Given the description of an element on the screen output the (x, y) to click on. 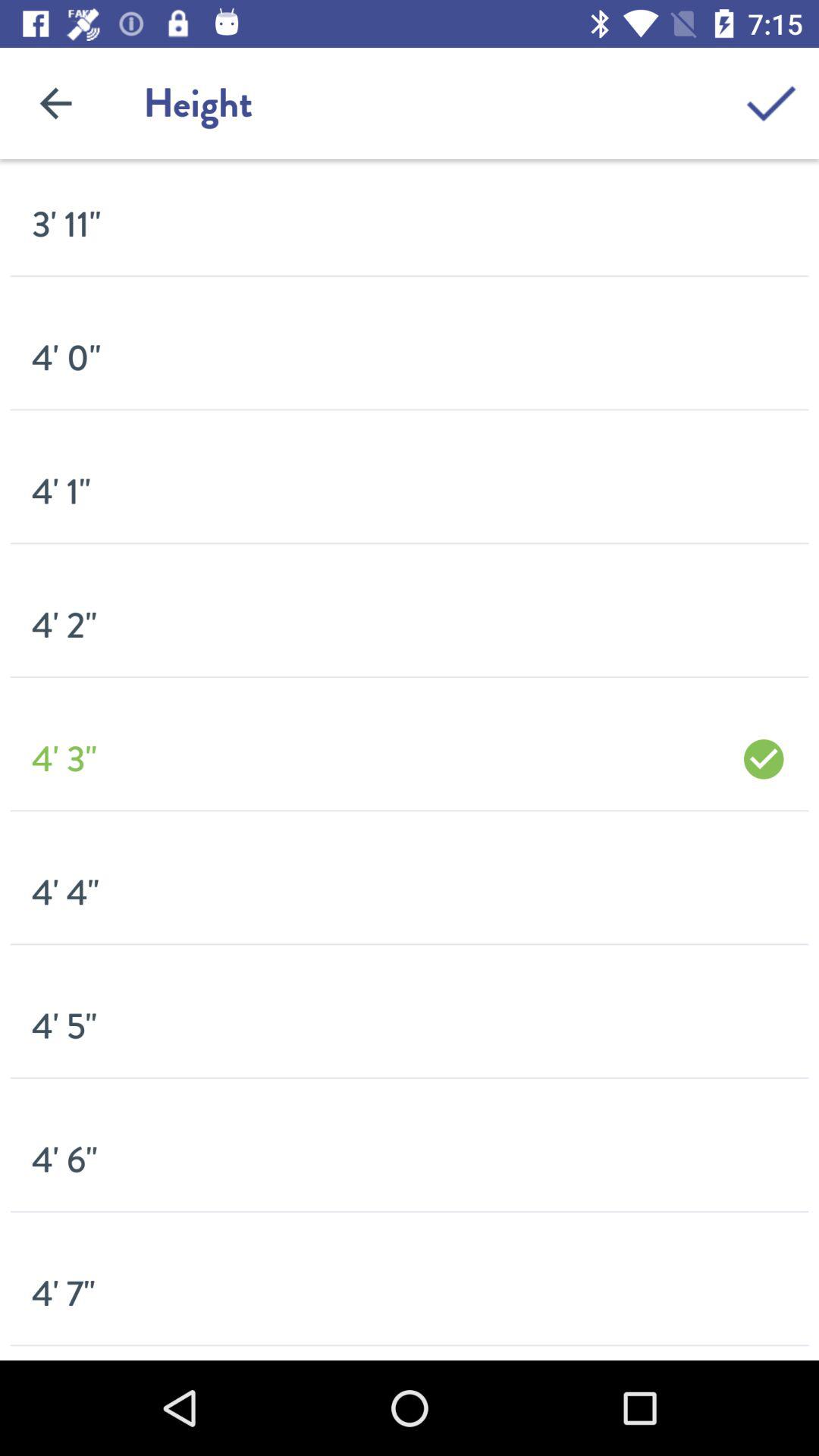
click the item next to 4' 3" (763, 759)
